Given the description of an element on the screen output the (x, y) to click on. 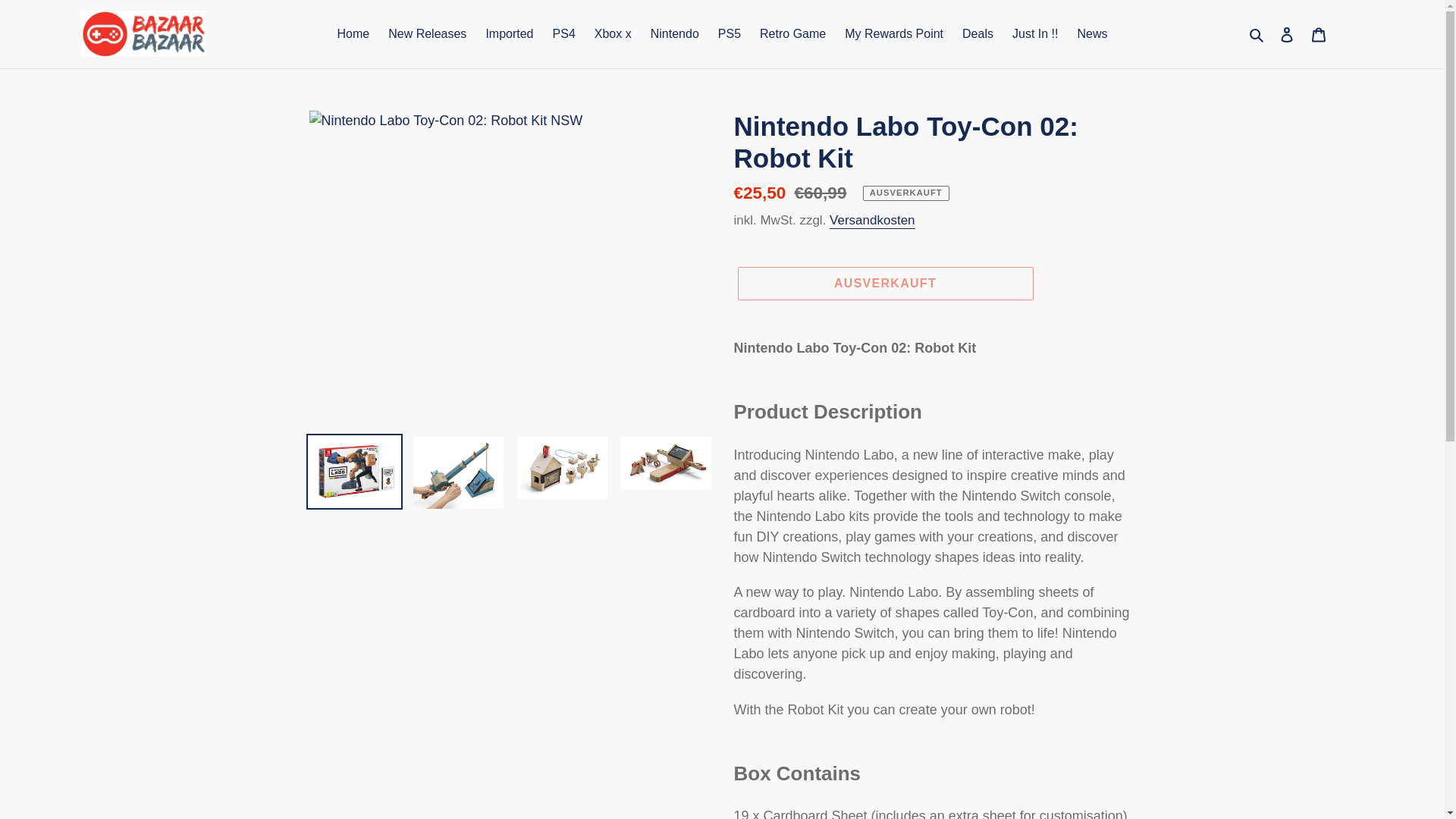
Versandkosten (871, 220)
My Rewards Point (893, 33)
PS5 (729, 33)
Deals (978, 33)
News (1091, 33)
Imported (508, 33)
Suchen (1257, 33)
Retro Game (792, 33)
Warenkorb (1319, 34)
PS4 (563, 33)
New Releases (427, 33)
Nintendo (674, 33)
Xbox x (612, 33)
Just In !! (1034, 33)
Home (353, 33)
